Given the description of an element on the screen output the (x, y) to click on. 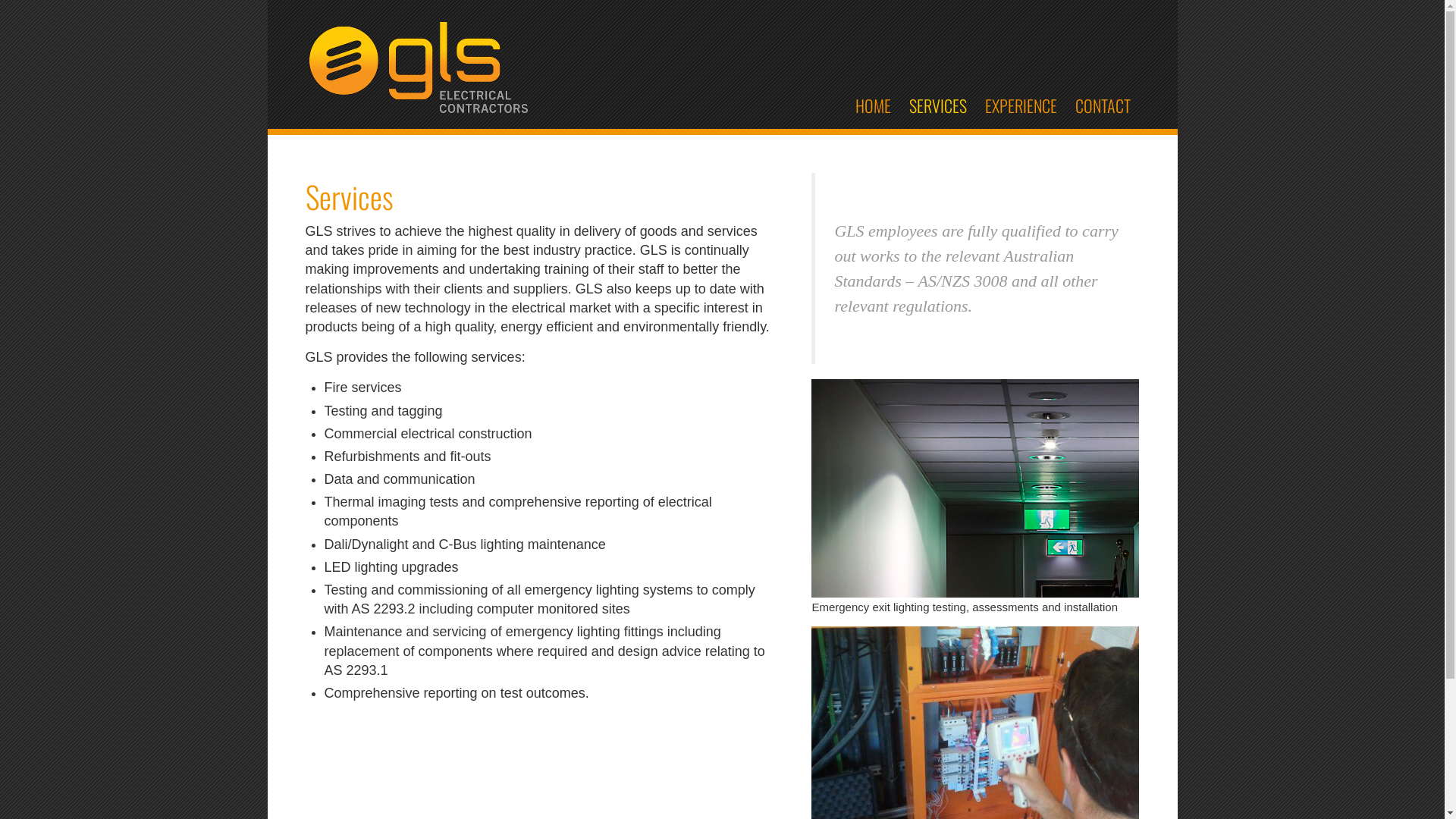
CONTACT Element type: text (1102, 105)
HOME Element type: text (873, 105)
EXPERIENCE Element type: text (1020, 105)
SERVICES Element type: text (937, 105)
